Given the description of an element on the screen output the (x, y) to click on. 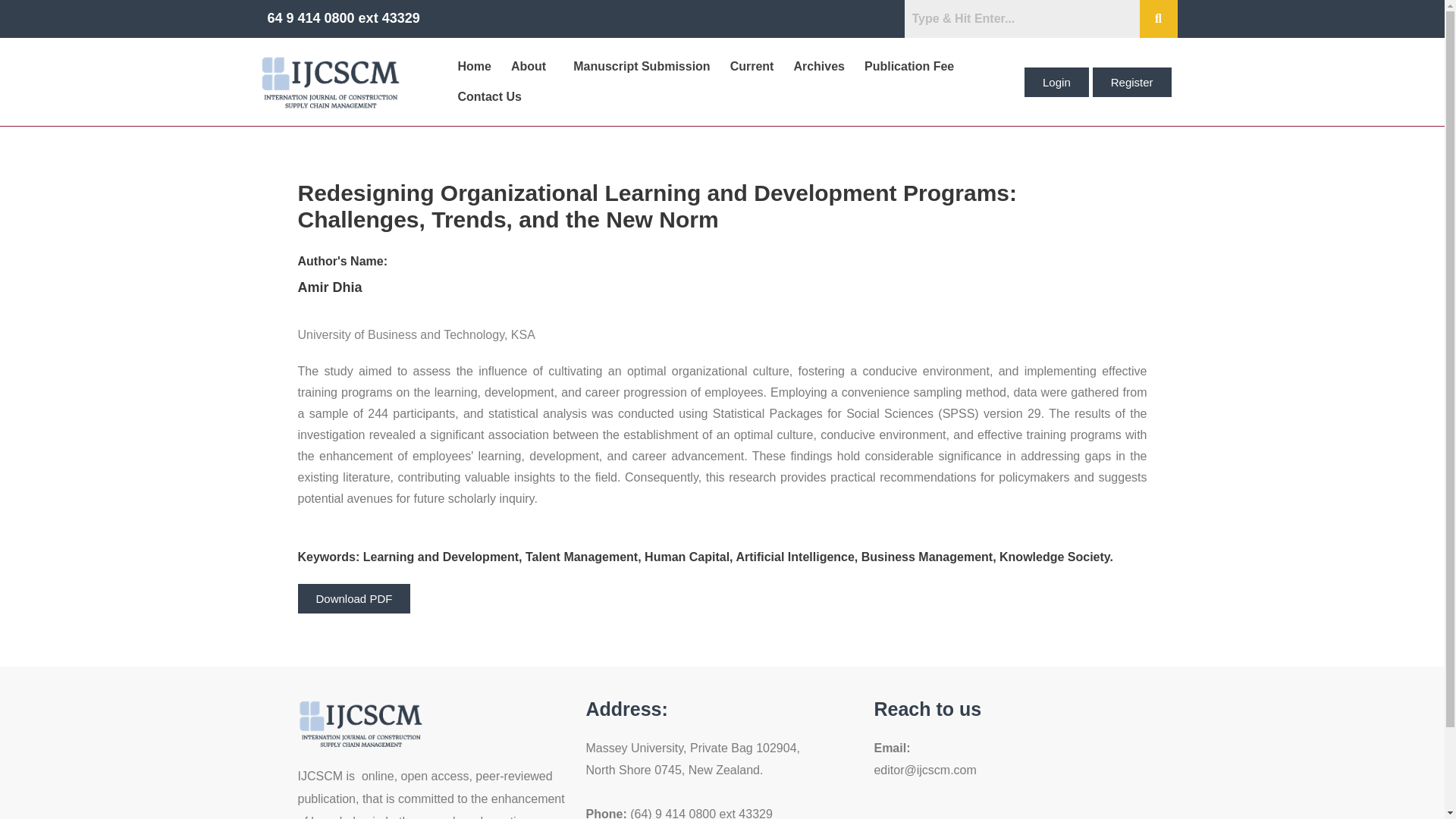
Search (1021, 18)
Login (1057, 81)
Publication Fee (908, 66)
Archives (818, 66)
Download PDF (353, 598)
Contact Us (488, 96)
Register (1132, 81)
About (531, 66)
Current (752, 66)
Home (473, 66)
